Given the description of an element on the screen output the (x, y) to click on. 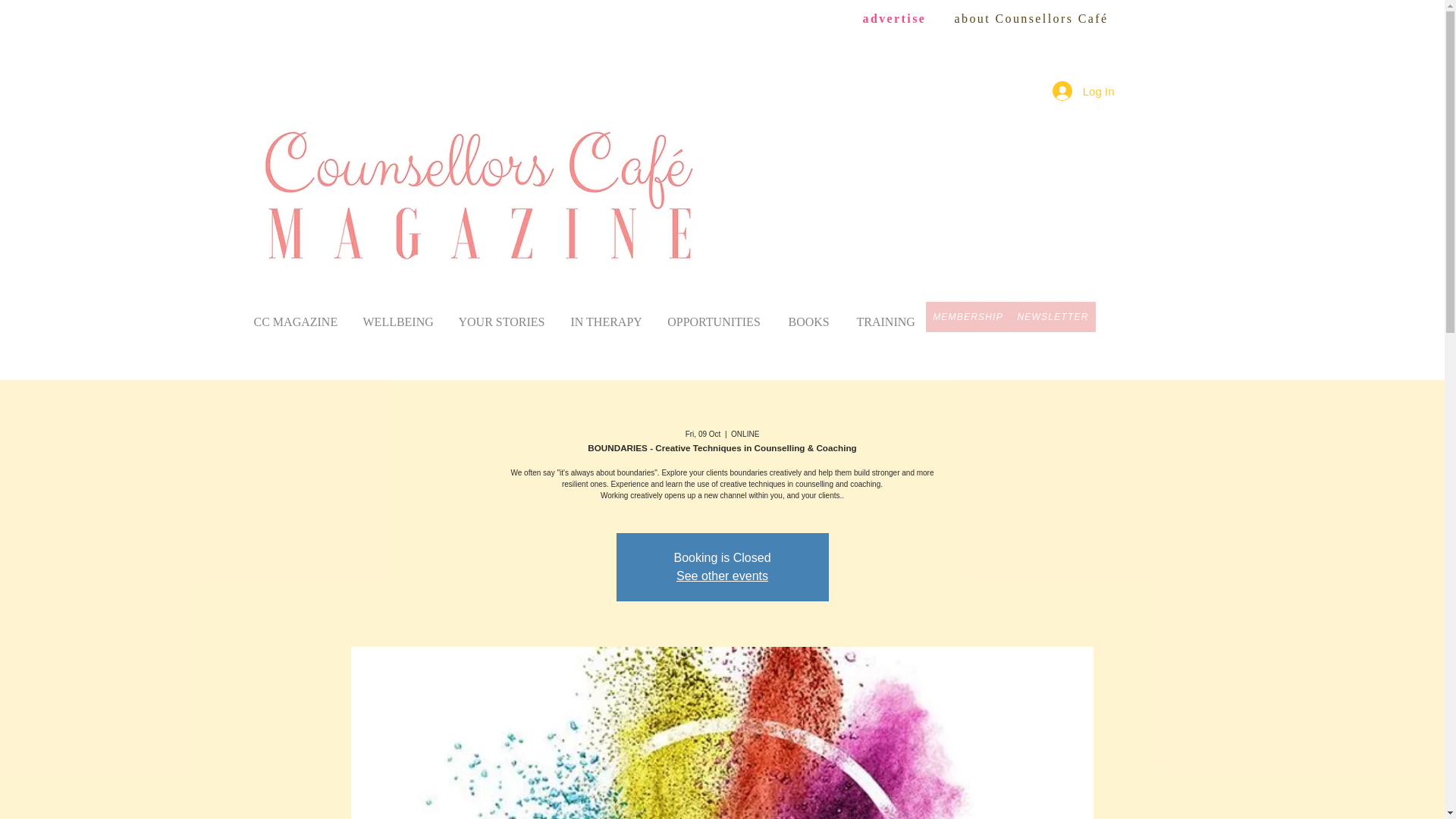
IN THERAPY (604, 315)
Log In (1083, 90)
YOUR STORIES (500, 315)
CC MAGAZINE (294, 315)
BOOKS (808, 315)
advertise (894, 18)
OPPORTUNITIES (713, 315)
See other events (722, 575)
WELLBEING (396, 315)
NEWSLETTER (1052, 317)
MEMBERSHIP (967, 317)
